Given the description of an element on the screen output the (x, y) to click on. 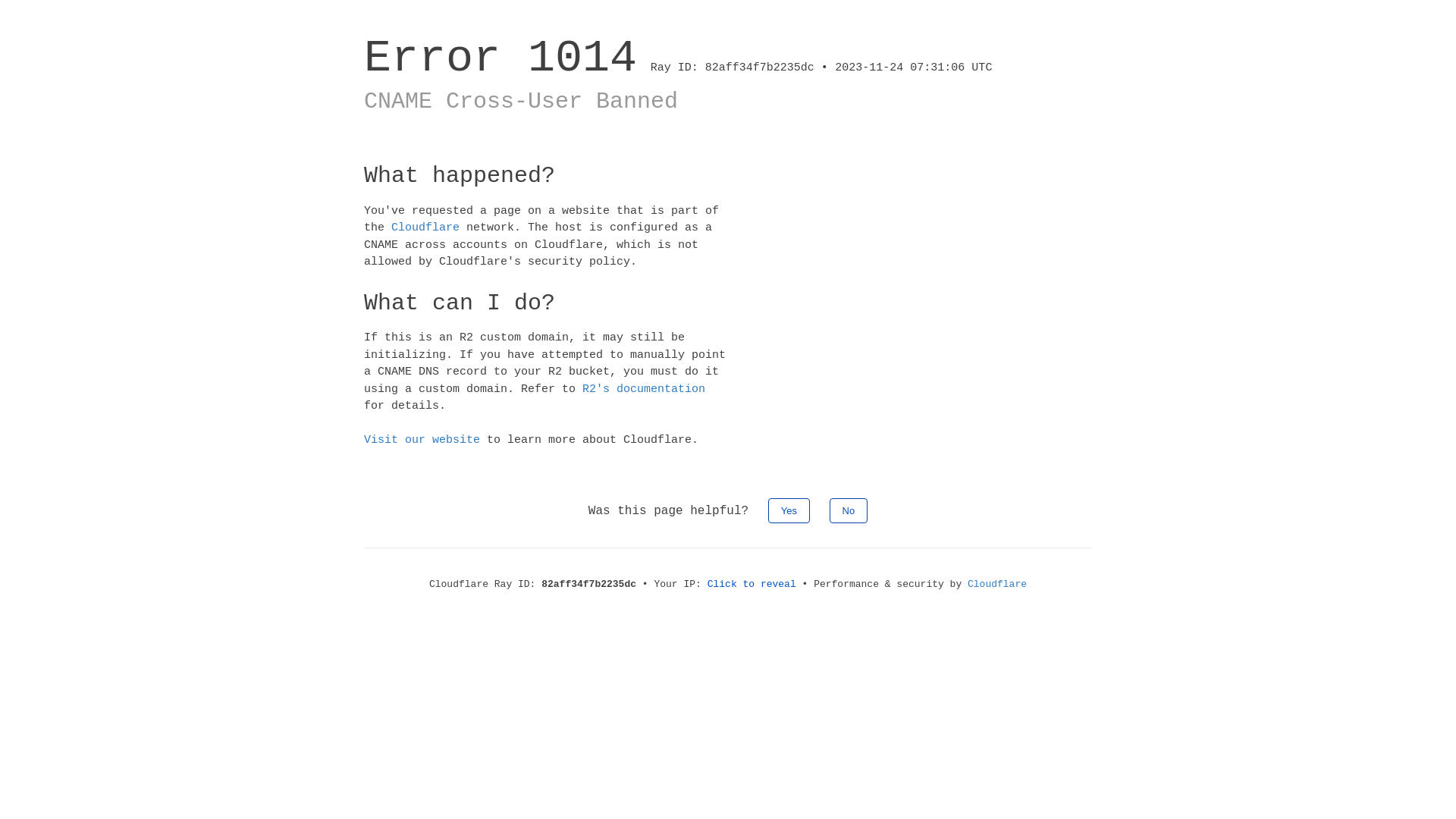
Click to reveal Element type: text (751, 583)
R2's documentation Element type: text (643, 388)
Cloudflare Element type: text (425, 227)
No Element type: text (848, 509)
Visit our website Element type: text (422, 439)
Yes Element type: text (788, 509)
Cloudflare Element type: text (996, 583)
